Given the description of an element on the screen output the (x, y) to click on. 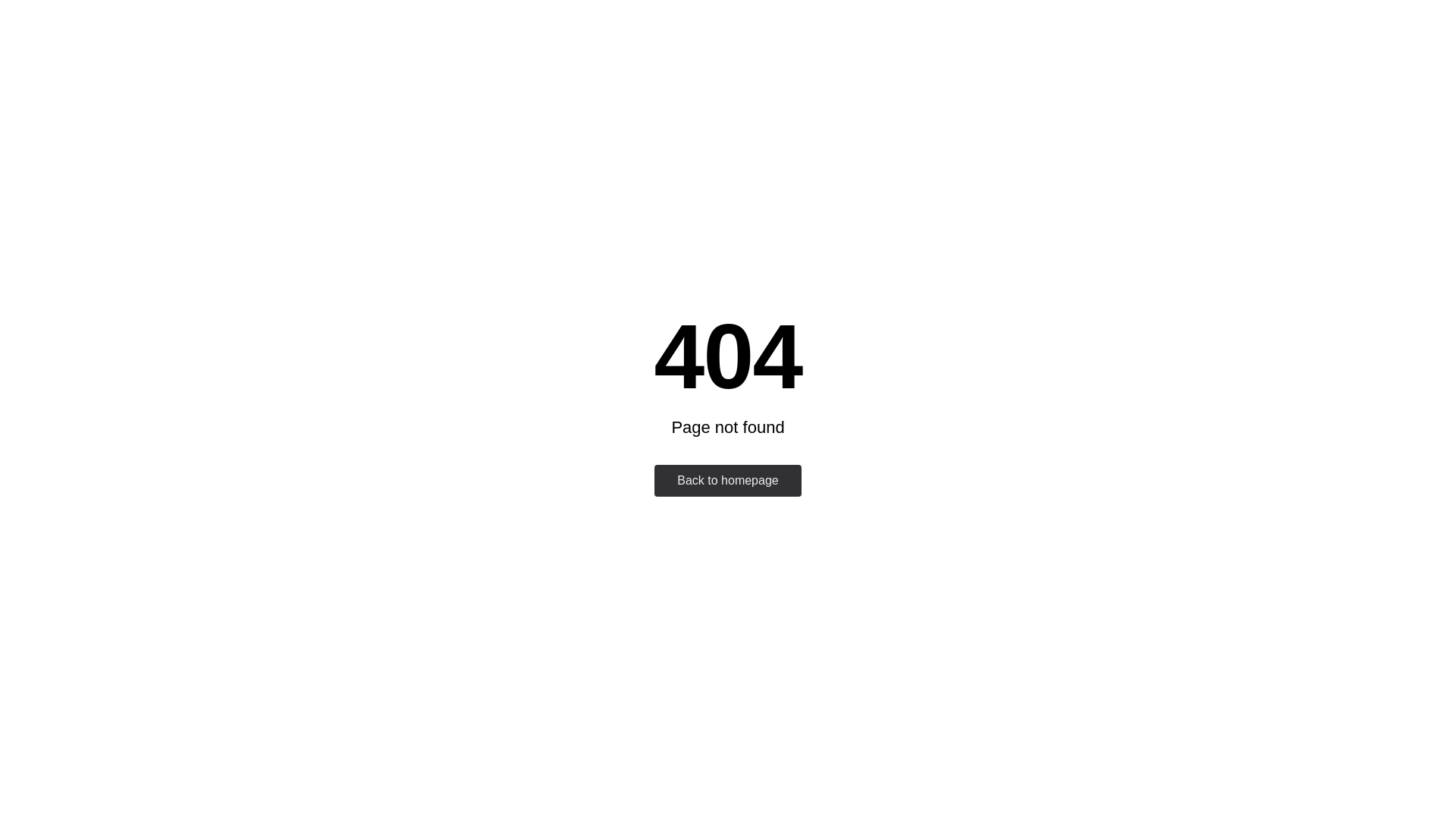
Back to homepage Element type: text (727, 480)
